Given the description of an element on the screen output the (x, y) to click on. 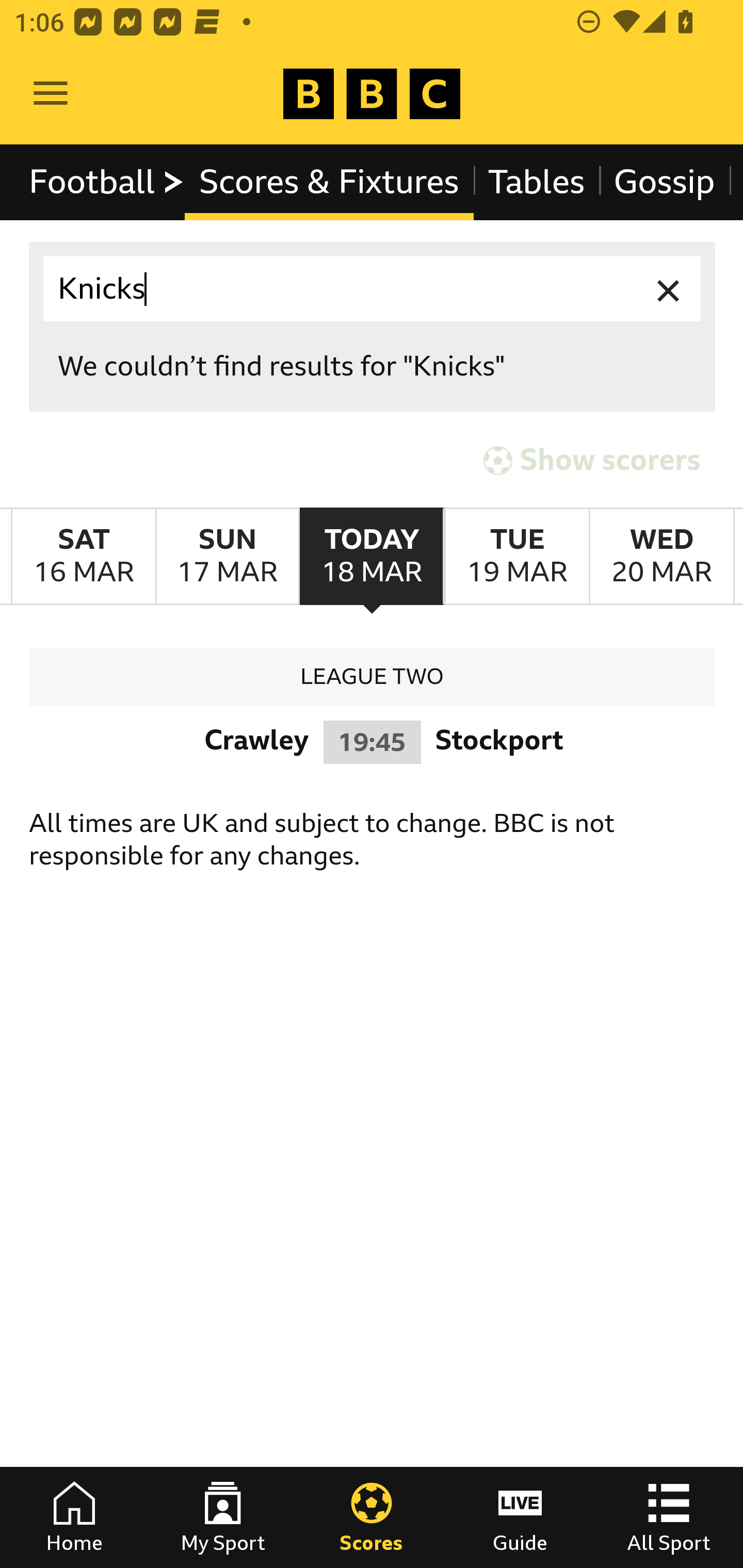
Open Menu (50, 93)
Football  (106, 181)
Scores & Fixtures (329, 181)
Tables (536, 181)
Gossip (664, 181)
Knicks (372, 289)
Clear input (669, 289)
Show scorers (591, 459)
SaturdayMarch 16th Saturday March 16th (83, 557)
SundayMarch 17th Sunday March 17th (227, 557)
TuesdayMarch 19th Tuesday March 19th (516, 557)
WednesdayMarch 20th Wednesday March 20th (661, 557)
Home (74, 1517)
My Sport (222, 1517)
Guide (519, 1517)
All Sport (668, 1517)
